Given the description of an element on the screen output the (x, y) to click on. 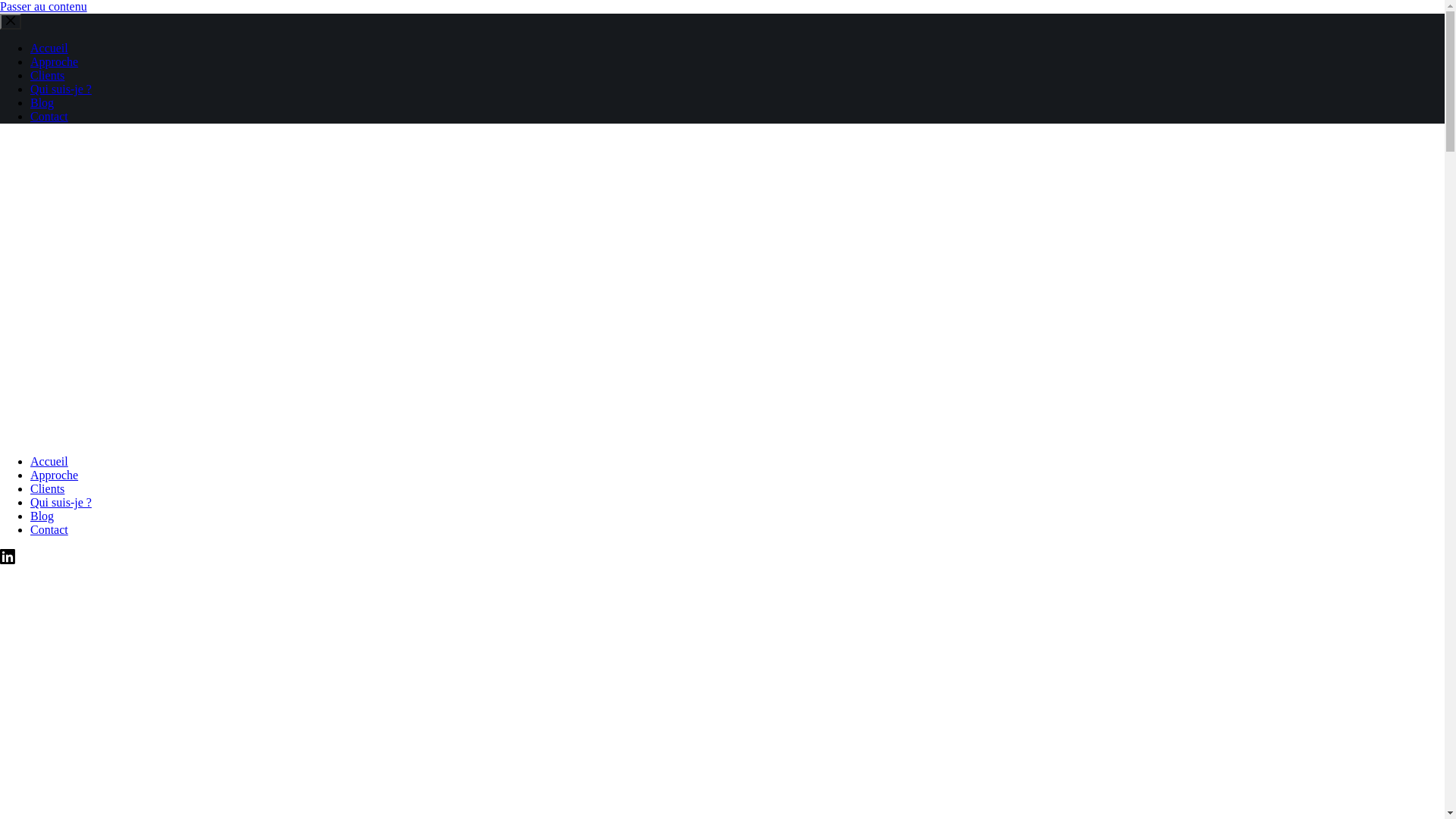
Qui suis-je ? Element type: text (60, 88)
Blog Element type: text (41, 102)
Blog Element type: text (41, 515)
Accueil Element type: text (49, 461)
Passer au contenu Element type: text (43, 6)
Clients Element type: text (47, 75)
Approche Element type: text (54, 61)
Qui suis-je ? Element type: text (60, 501)
Contact Element type: text (49, 115)
Approche Element type: text (54, 474)
Accueil Element type: text (49, 47)
Contact Element type: text (49, 529)
Clients Element type: text (47, 488)
